Given the description of an element on the screen output the (x, y) to click on. 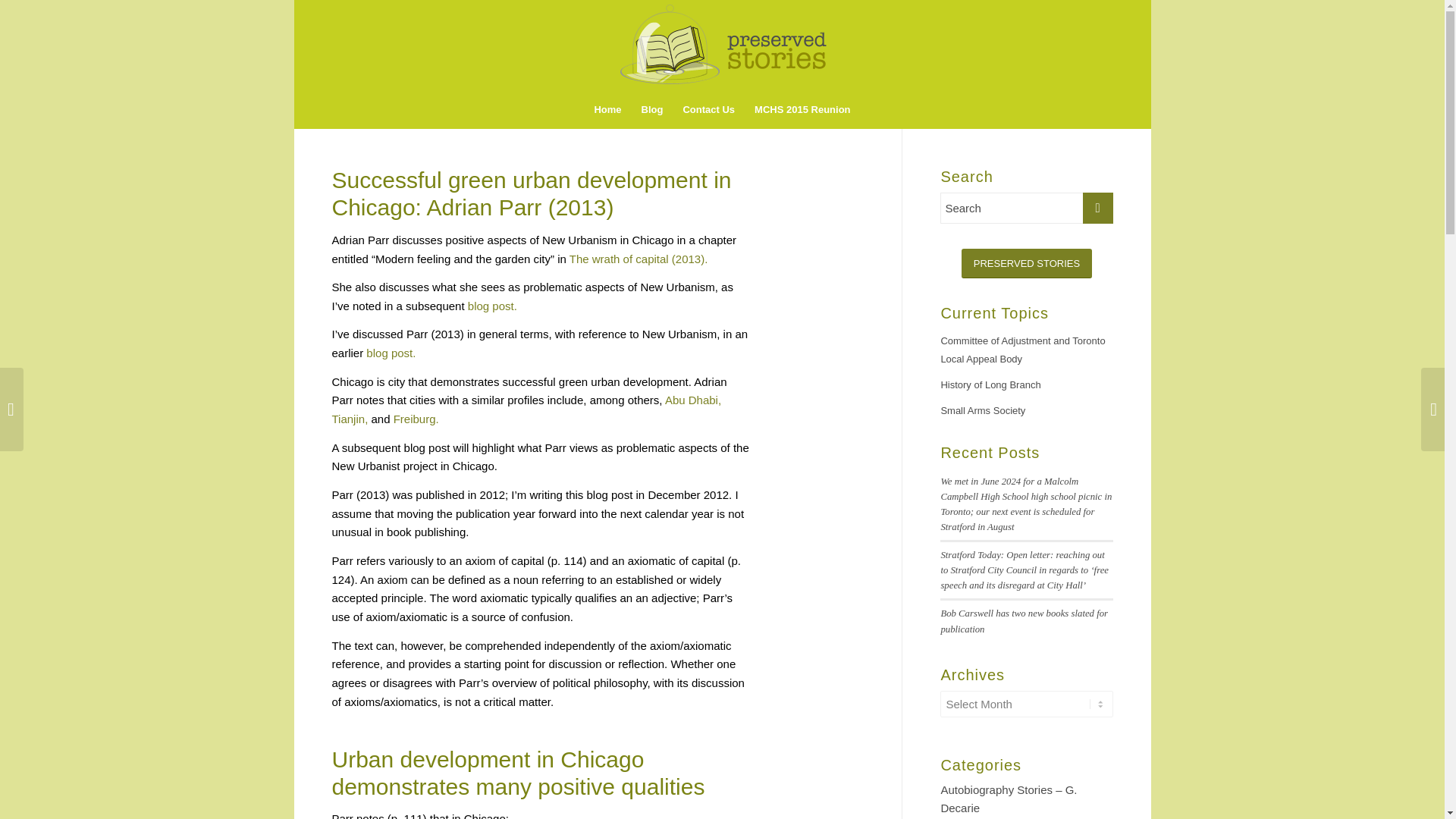
Blog (651, 109)
Preserved-Stories-logo-horizontal (722, 42)
blog post. (390, 352)
Home (606, 109)
Freiburg. (416, 418)
Contact Us (708, 109)
blog post. (491, 305)
Abu Dhabi, (692, 399)
Tianjin, (349, 418)
